Given the description of an element on the screen output the (x, y) to click on. 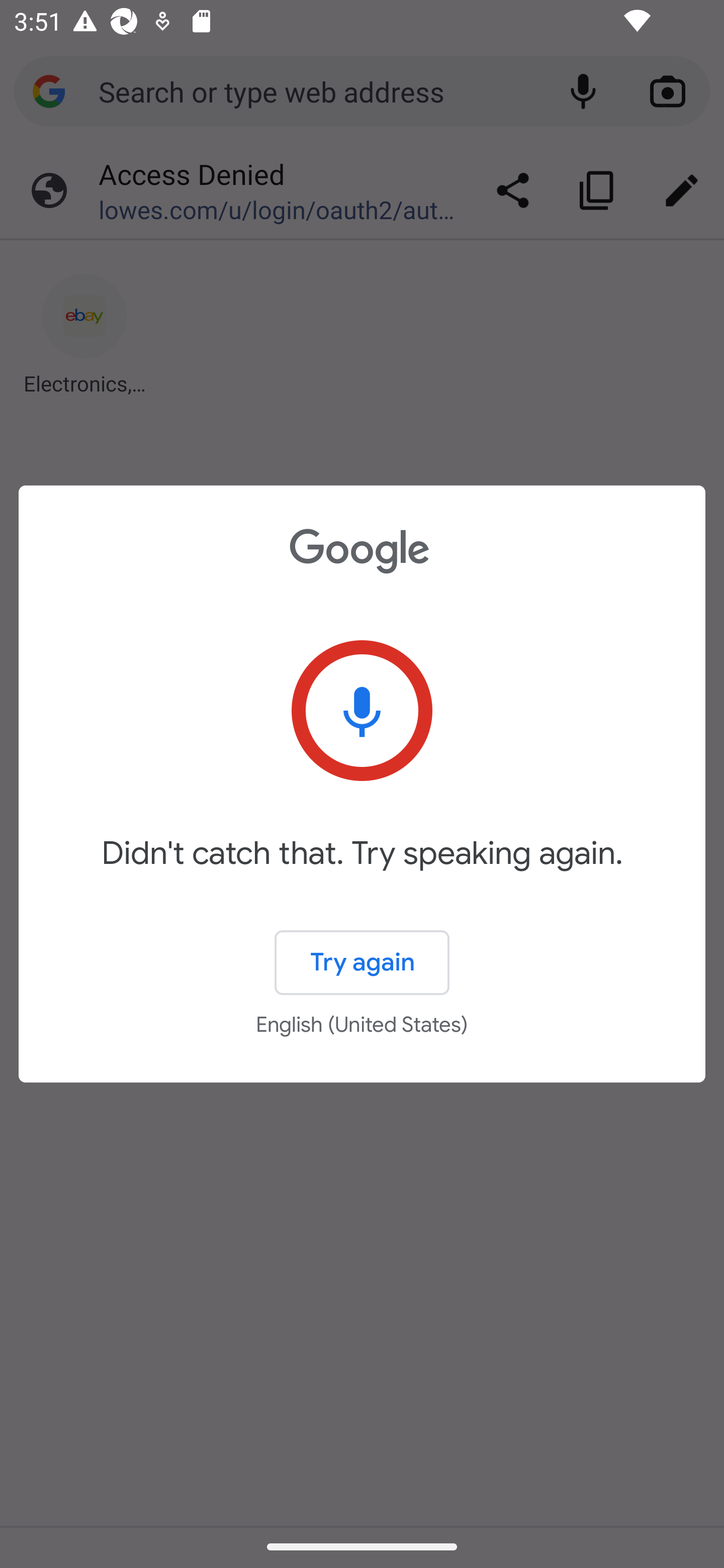
Tap to try again (361, 710)
Try again (361, 962)
